Given the description of an element on the screen output the (x, y) to click on. 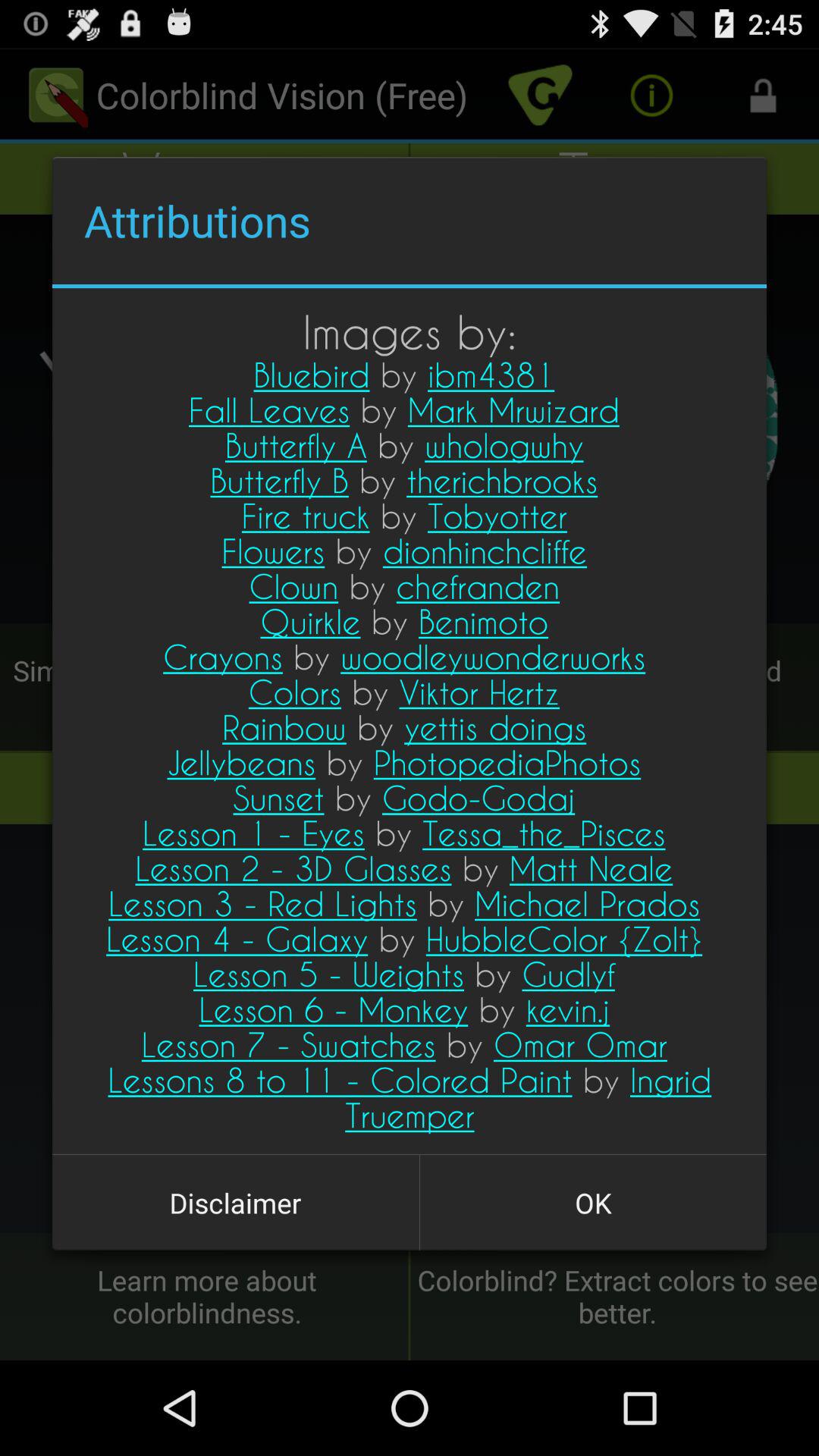
select the icon below the bluebird by ibm4381 item (593, 1202)
